Given the description of an element on the screen output the (x, y) to click on. 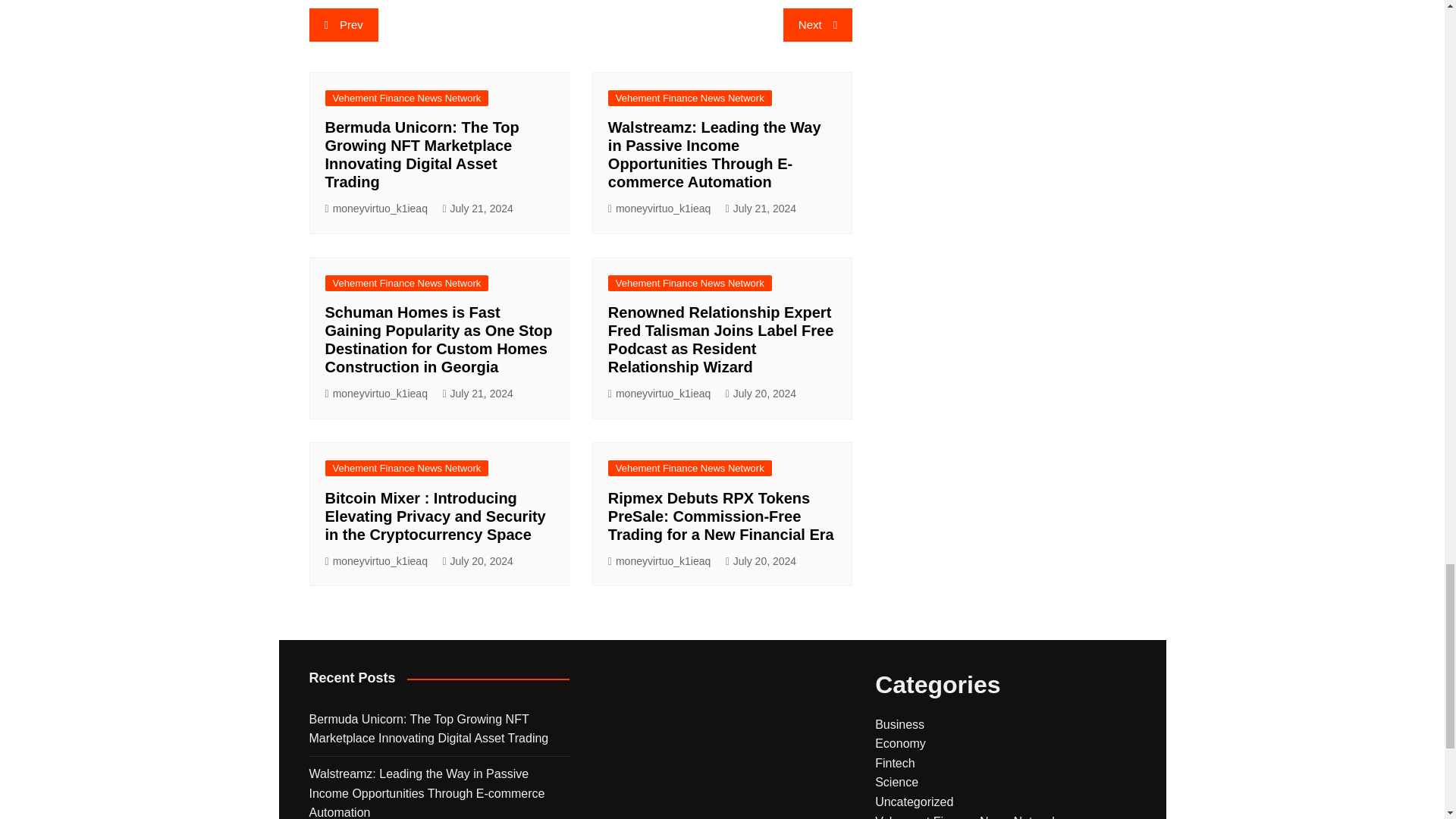
Vehement Finance News Network (405, 98)
July 21, 2024 (477, 208)
July 21, 2024 (760, 208)
Vehement Finance News Network (405, 283)
Next (817, 24)
Vehement Finance News Network (689, 98)
Prev (343, 24)
